Given the description of an element on the screen output the (x, y) to click on. 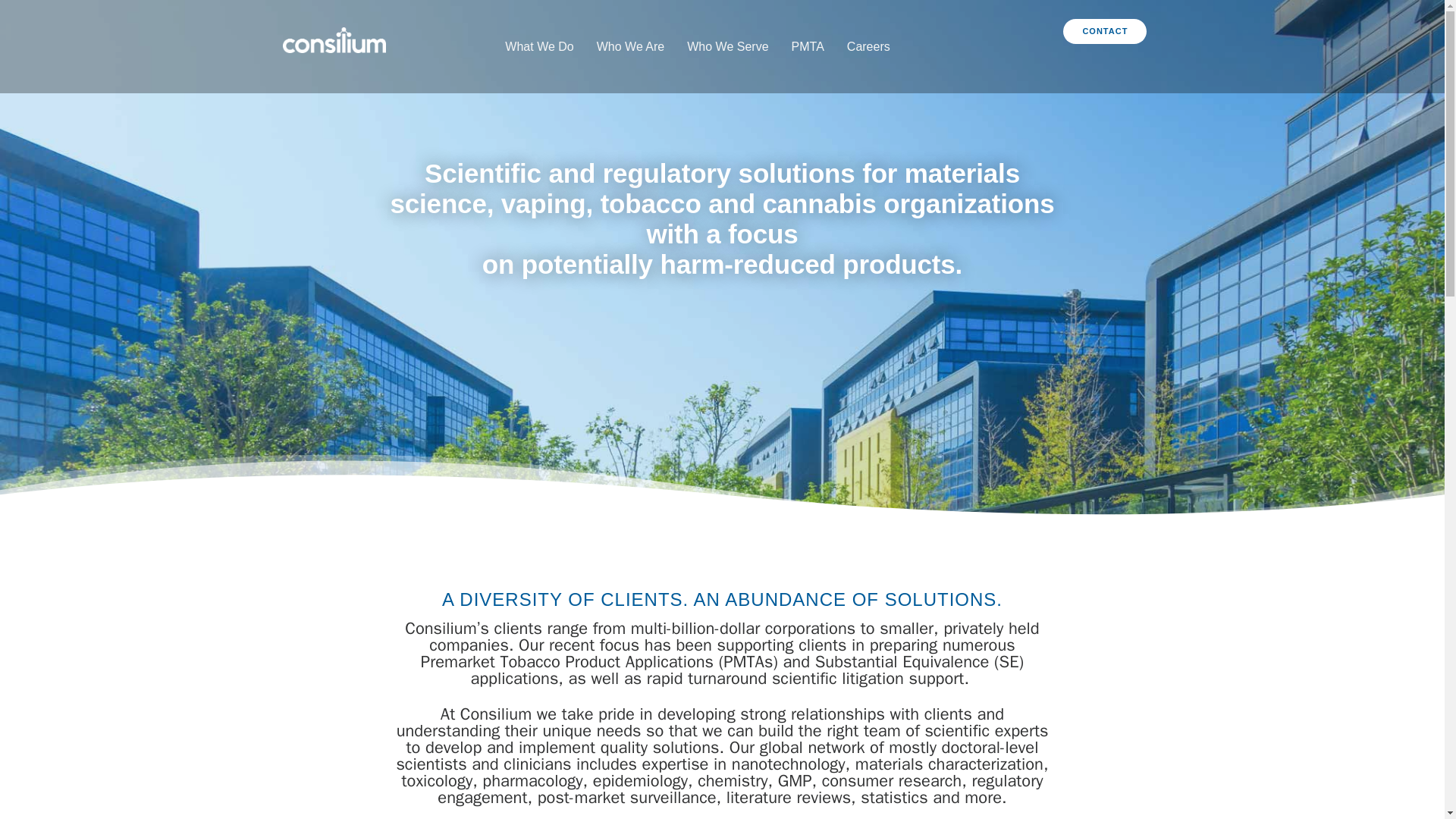
Who We Are (630, 45)
Who We Serve (727, 45)
CONTACT (1104, 31)
Who We Serve (727, 45)
Who We Are (630, 45)
Careers (869, 45)
What We Do (538, 45)
What We Do (538, 45)
PMTA (807, 45)
Careers (869, 45)
PMTA (807, 45)
